Given the description of an element on the screen output the (x, y) to click on. 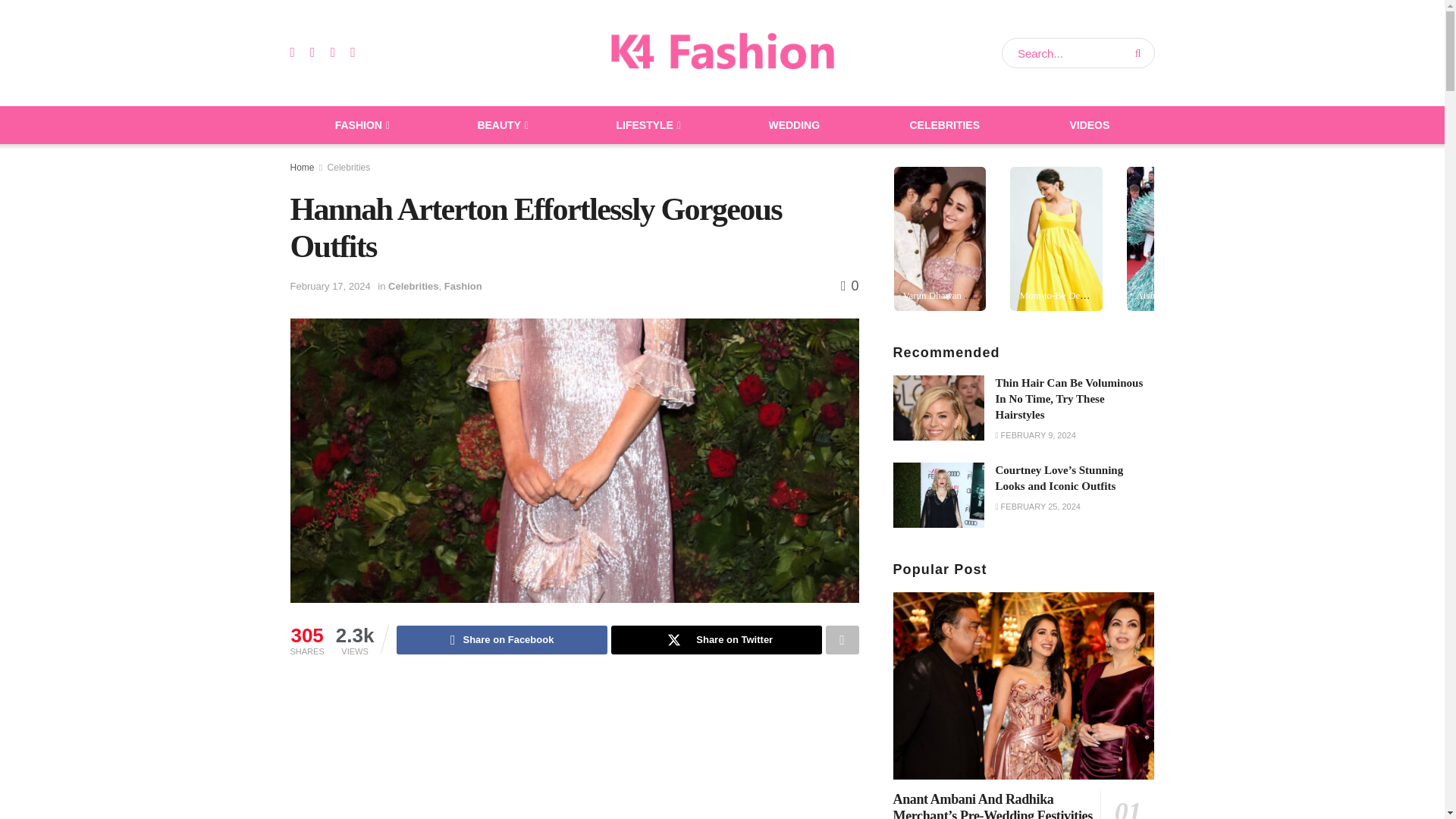
LIFESTYLE (646, 125)
FASHION (360, 125)
BEAUTY (501, 125)
WEDDING (793, 125)
VIDEOS (1089, 125)
CELEBRITIES (944, 125)
Advertisement (598, 749)
